Given the description of an element on the screen output the (x, y) to click on. 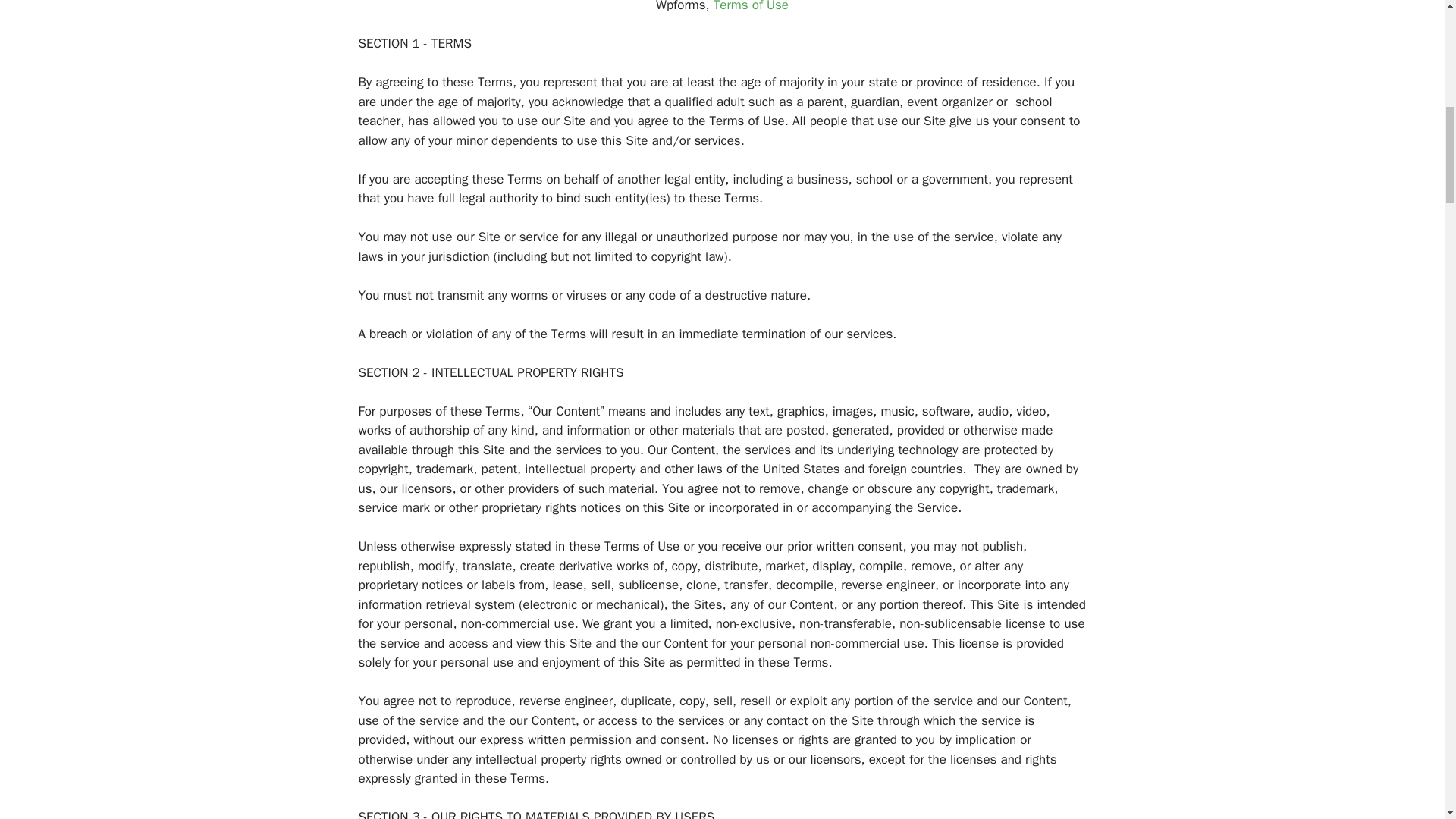
Terms of Use (751, 6)
